Given the description of an element on the screen output the (x, y) to click on. 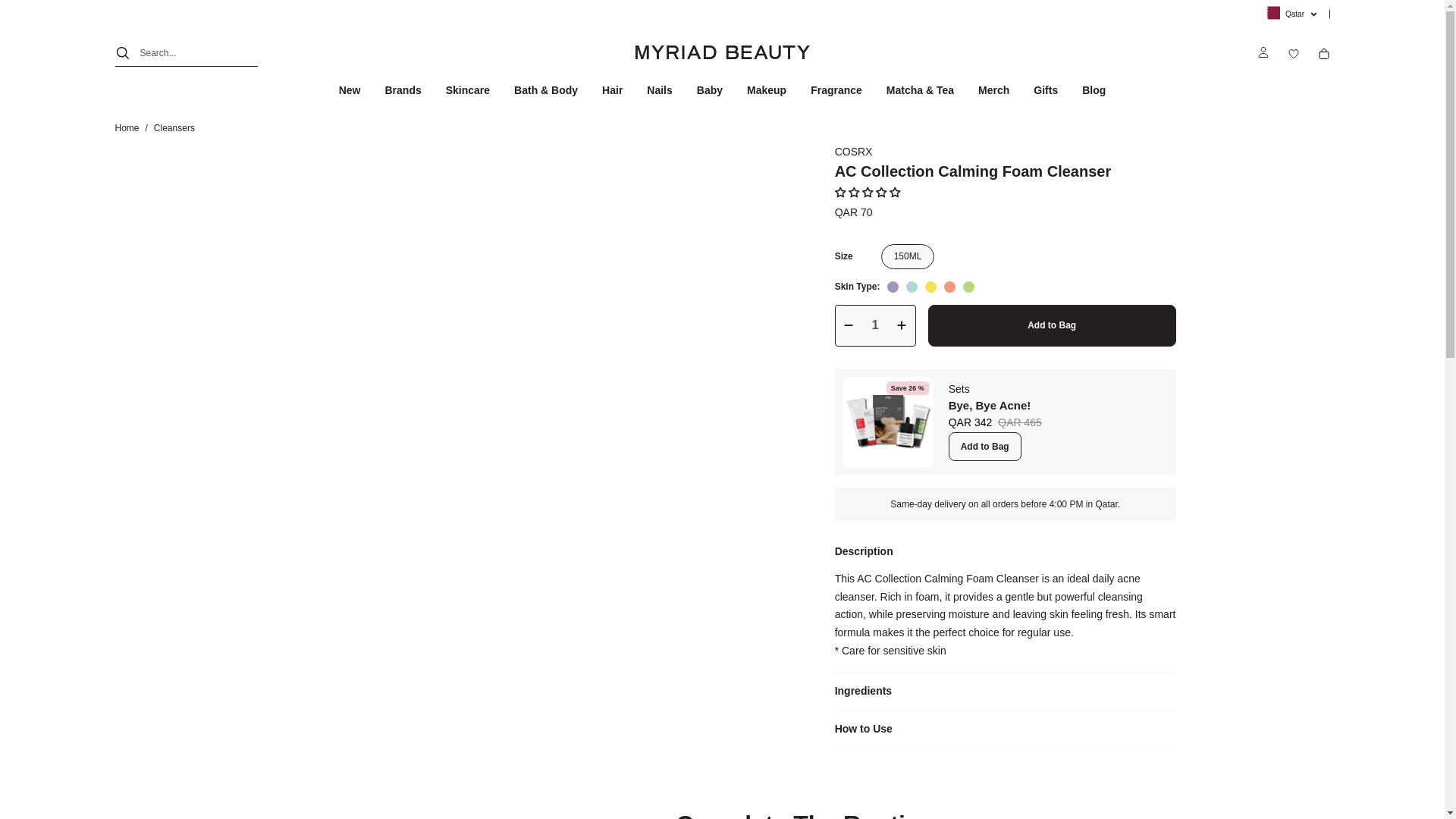
Qatar (1288, 13)
Sets (959, 388)
COSRX (853, 151)
Skip to content (45, 121)
New (349, 90)
Brands (402, 90)
